Given the description of an element on the screen output the (x, y) to click on. 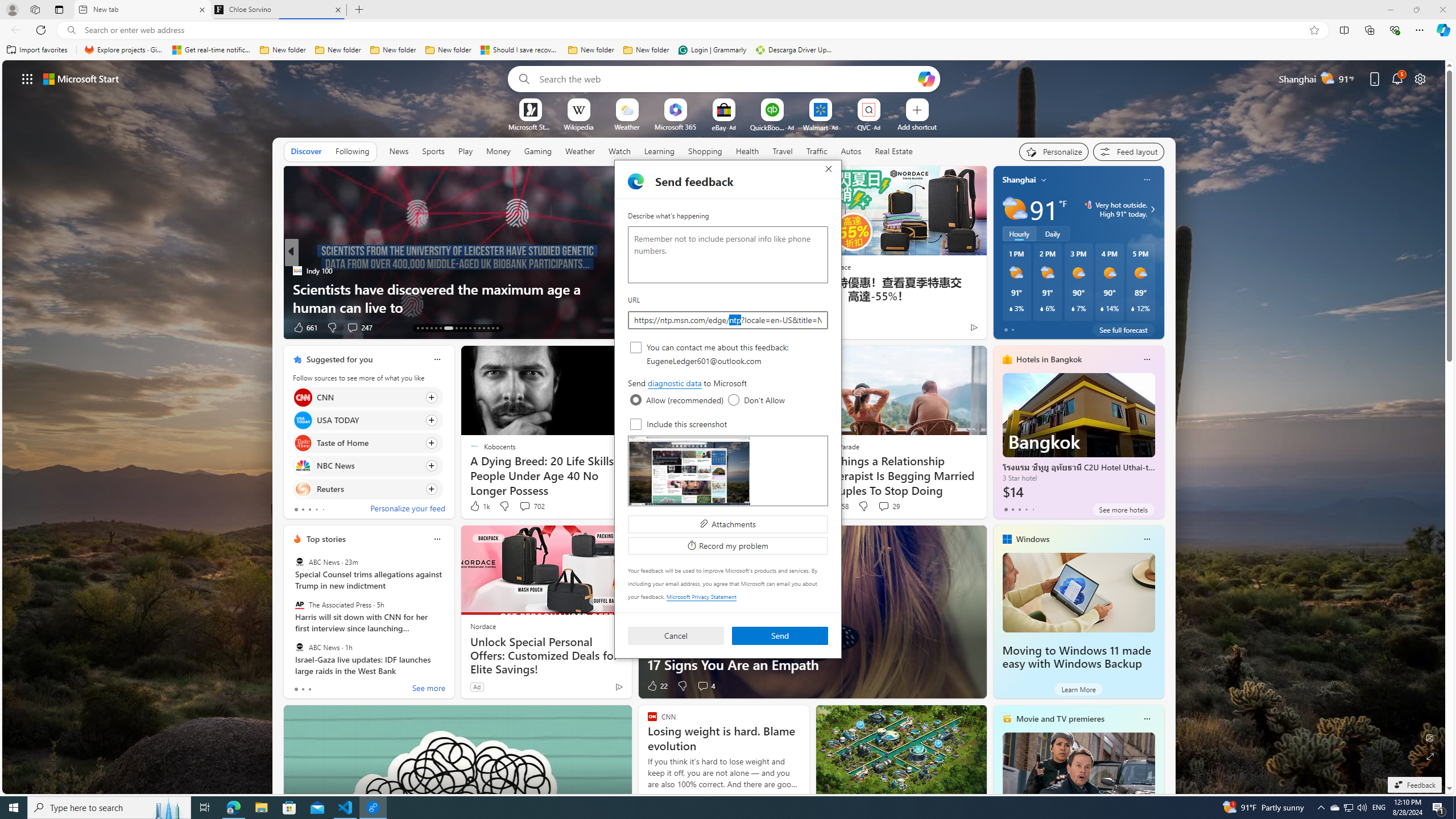
Windows (1032, 538)
Shanghai (1018, 179)
Task View (204, 807)
Weather (579, 151)
Daily (1052, 233)
Descarga Driver Updater (794, 49)
Indy 100 (296, 270)
Real Estate (893, 151)
AutomationID: tab-22 (465, 328)
tab-3 (1025, 509)
